Given the description of an element on the screen output the (x, y) to click on. 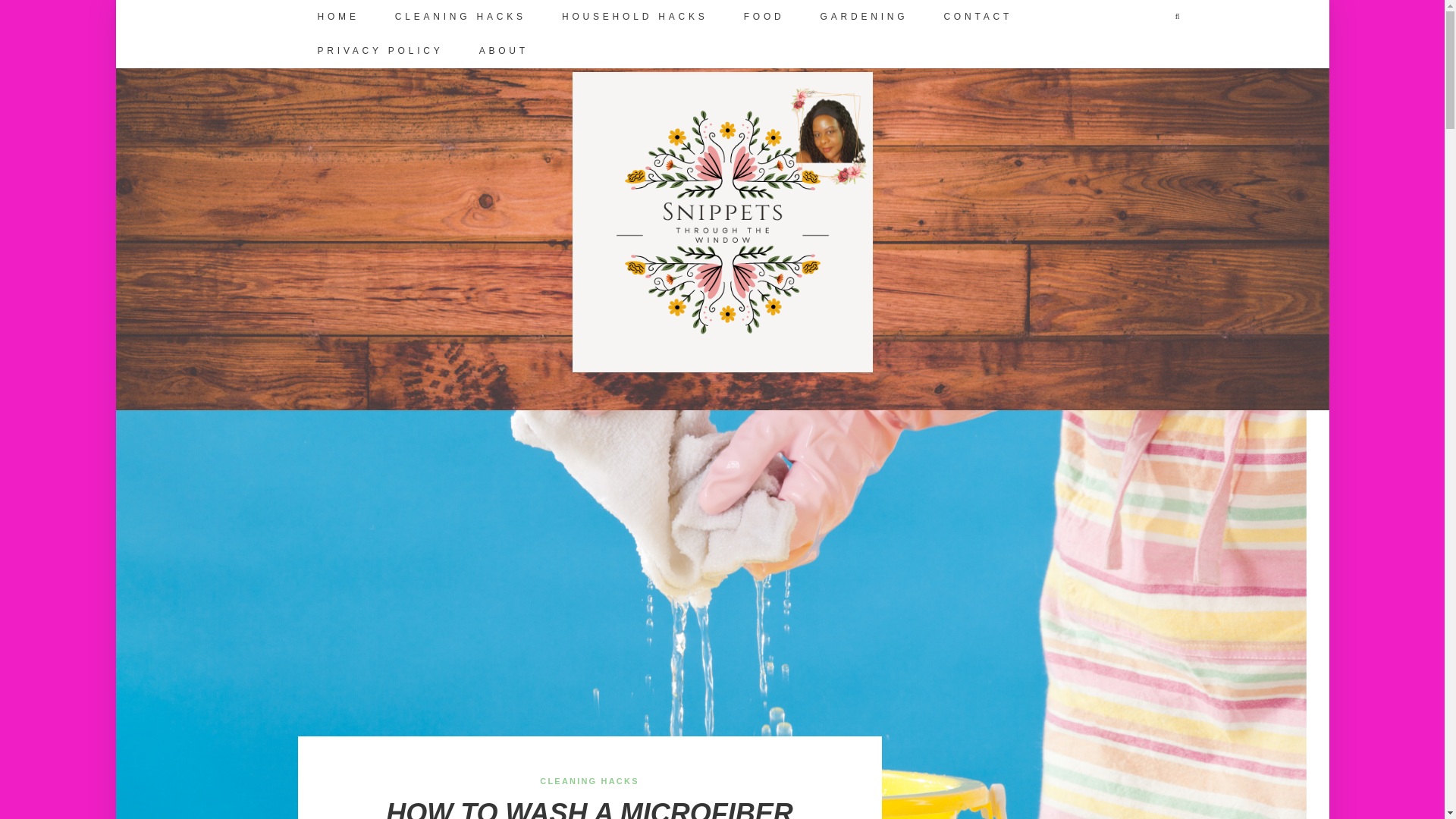
HOUSEHOLD HACKS (633, 17)
PRIVACY POLICY (377, 50)
ABOUT (502, 50)
FOOD (762, 17)
HOME (335, 17)
CONTACT (975, 17)
CLEANING HACKS (589, 780)
CLEANING HACKS (458, 17)
GARDENING (862, 17)
